Given the description of an element on the screen output the (x, y) to click on. 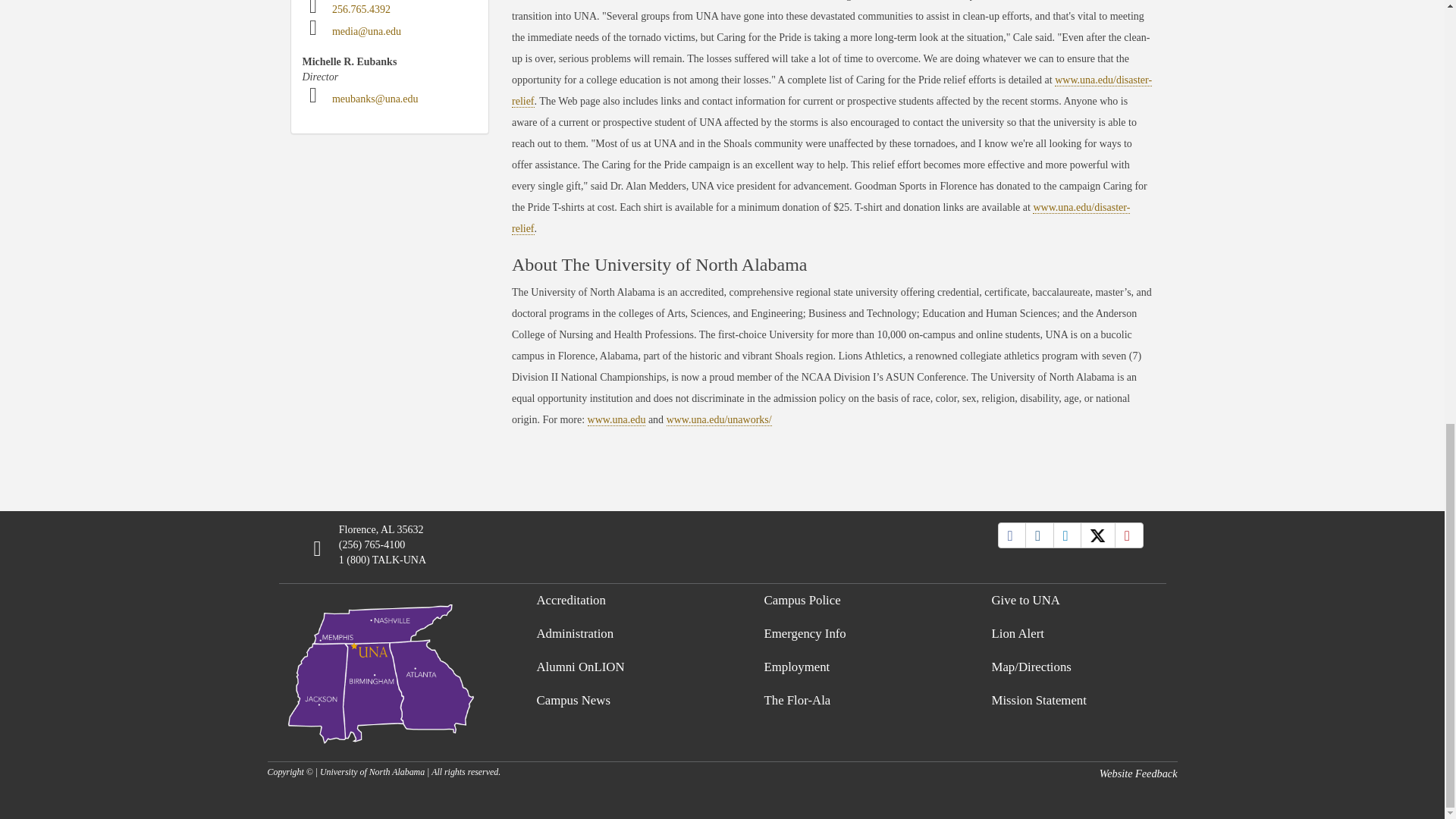
View Campus Maps (381, 670)
